Given the description of an element on the screen output the (x, y) to click on. 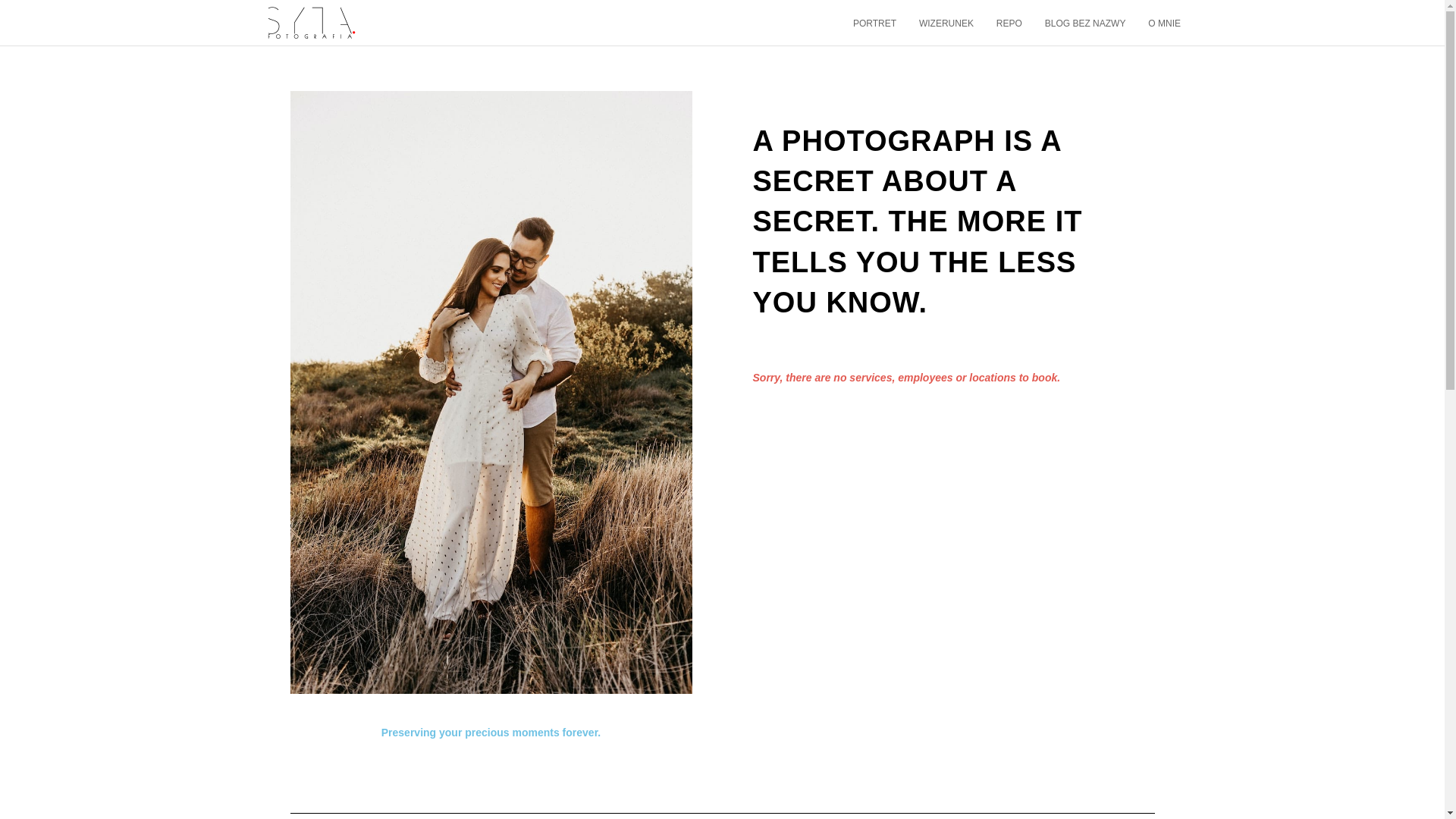
BLOG BEZ NAZWY (1085, 23)
O MNIE (1164, 23)
REPO (1009, 23)
PORTRET (874, 23)
WIZERUNEK (946, 23)
